Given the description of an element on the screen output the (x, y) to click on. 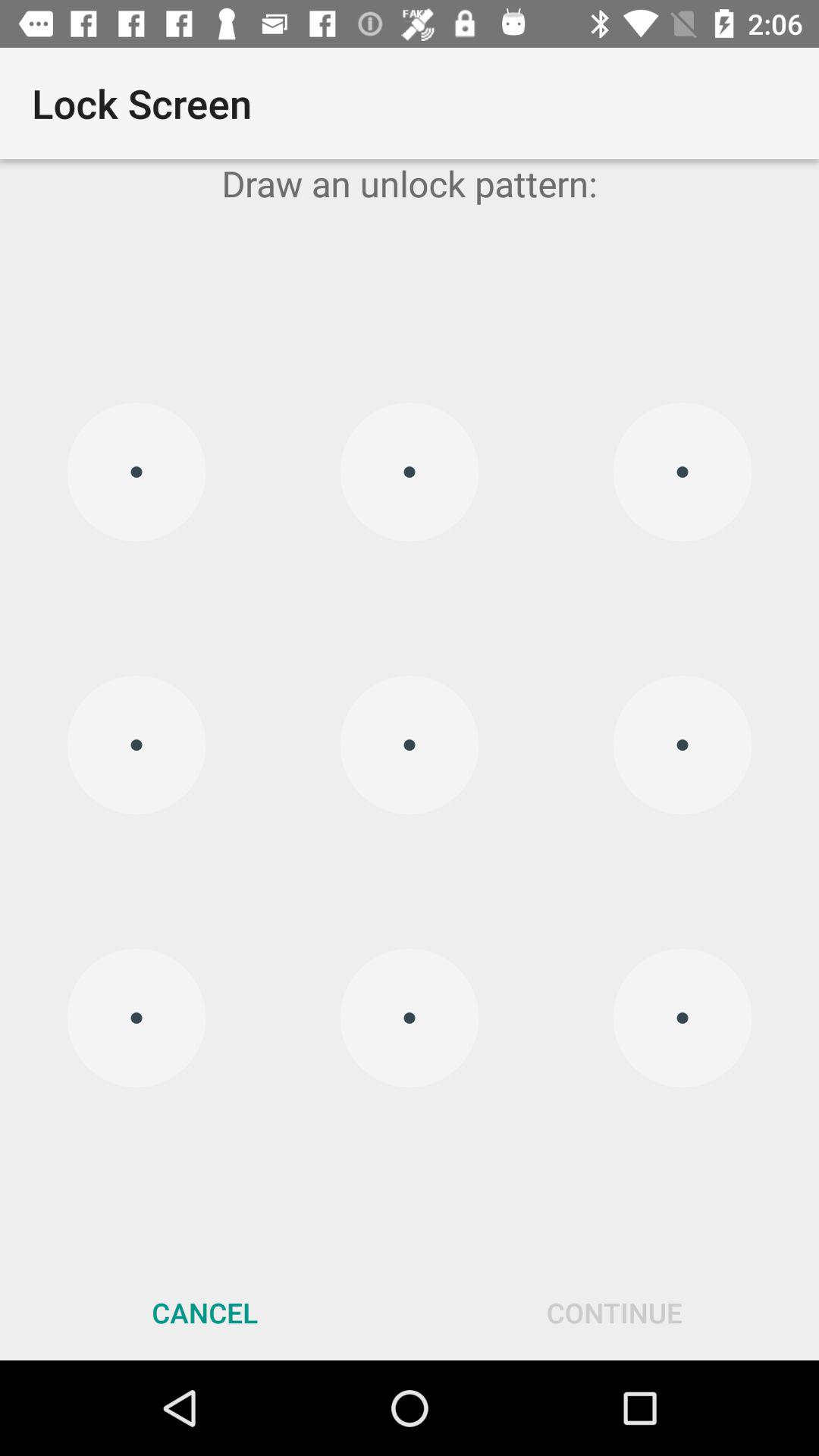
click icon to the left of the continue item (204, 1312)
